Given the description of an element on the screen output the (x, y) to click on. 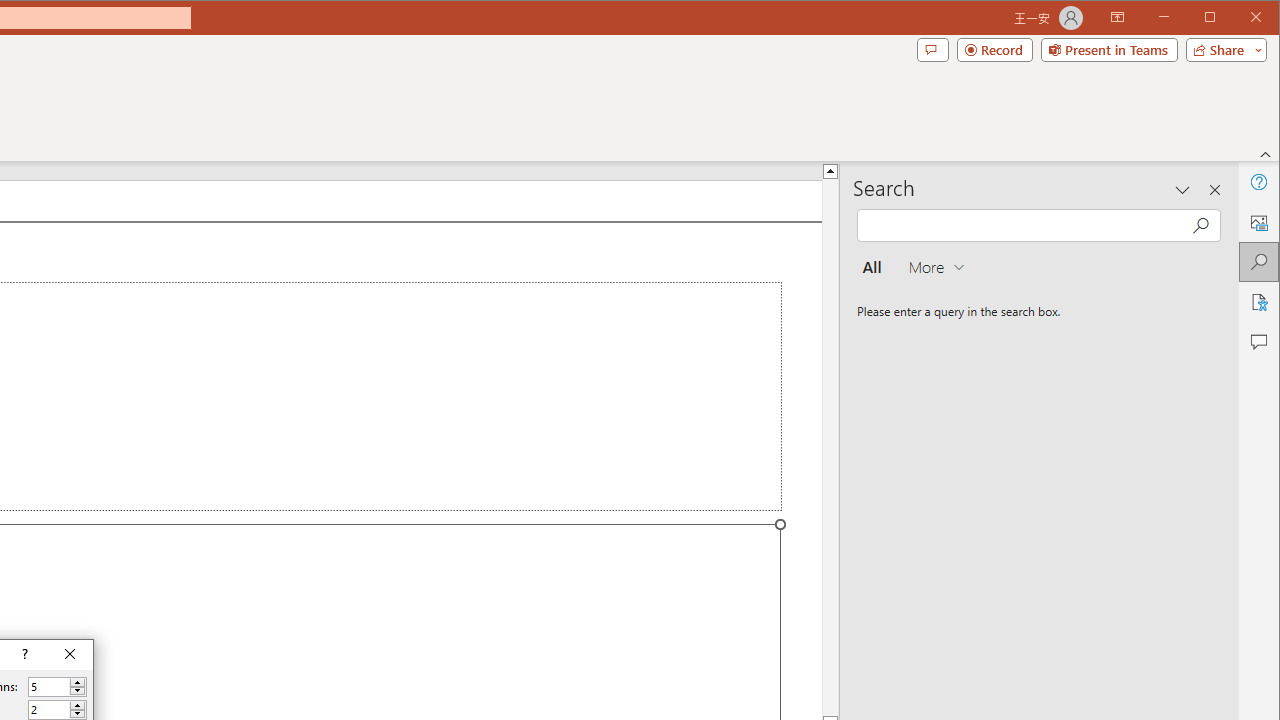
Number of rows (57, 709)
Number of columns (57, 686)
More (77, 705)
Alt Text (1258, 221)
Maximize (1238, 18)
